Given the description of an element on the screen output the (x, y) to click on. 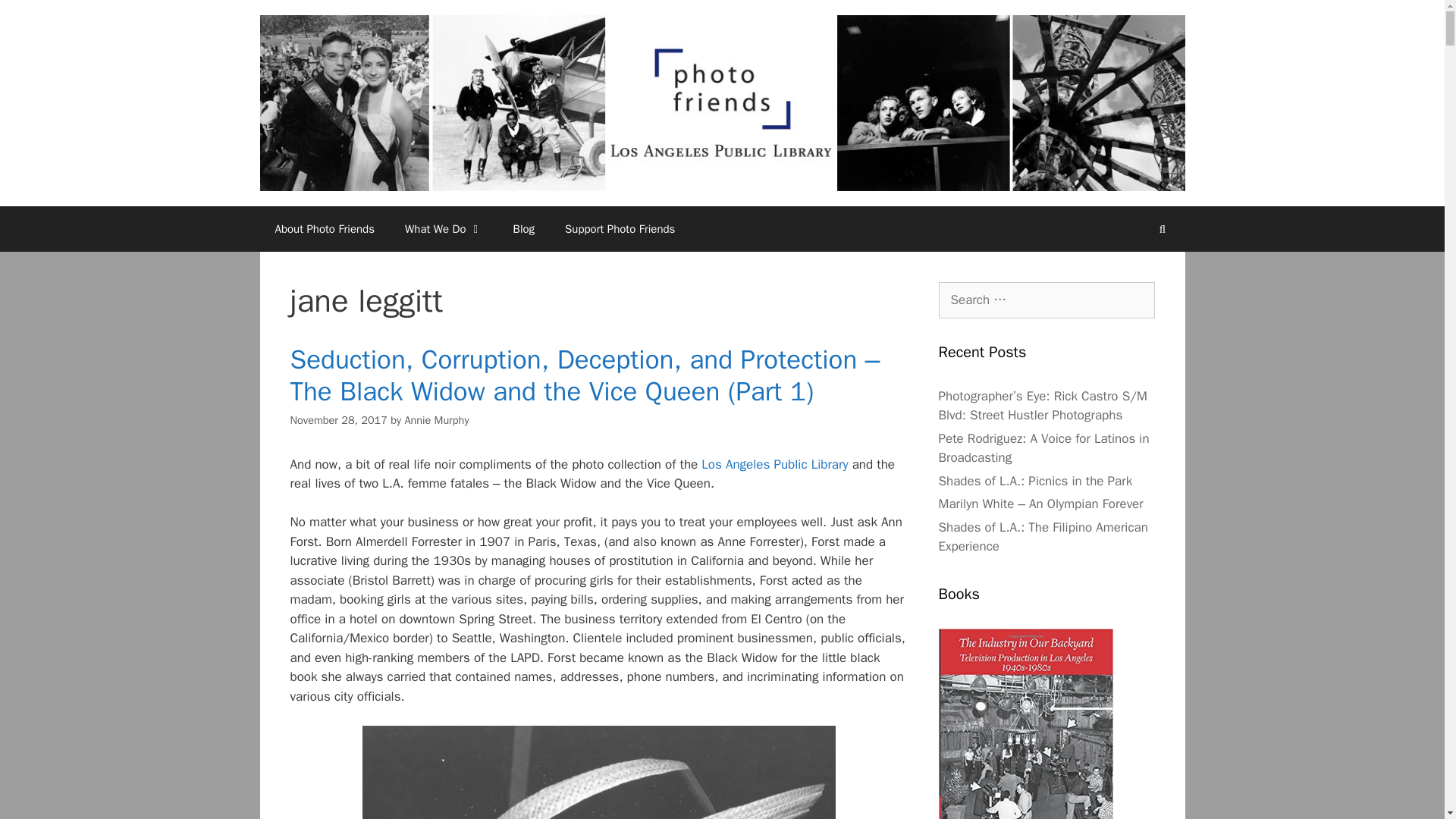
About Photo Friends (324, 228)
View all posts by Annie Murphy (436, 419)
Los Angeles Public Library (774, 464)
What We Do (443, 228)
Blog (523, 228)
Annie Murphy (436, 419)
Search for: (1046, 299)
Support Photo Friends (620, 228)
